Given the description of an element on the screen output the (x, y) to click on. 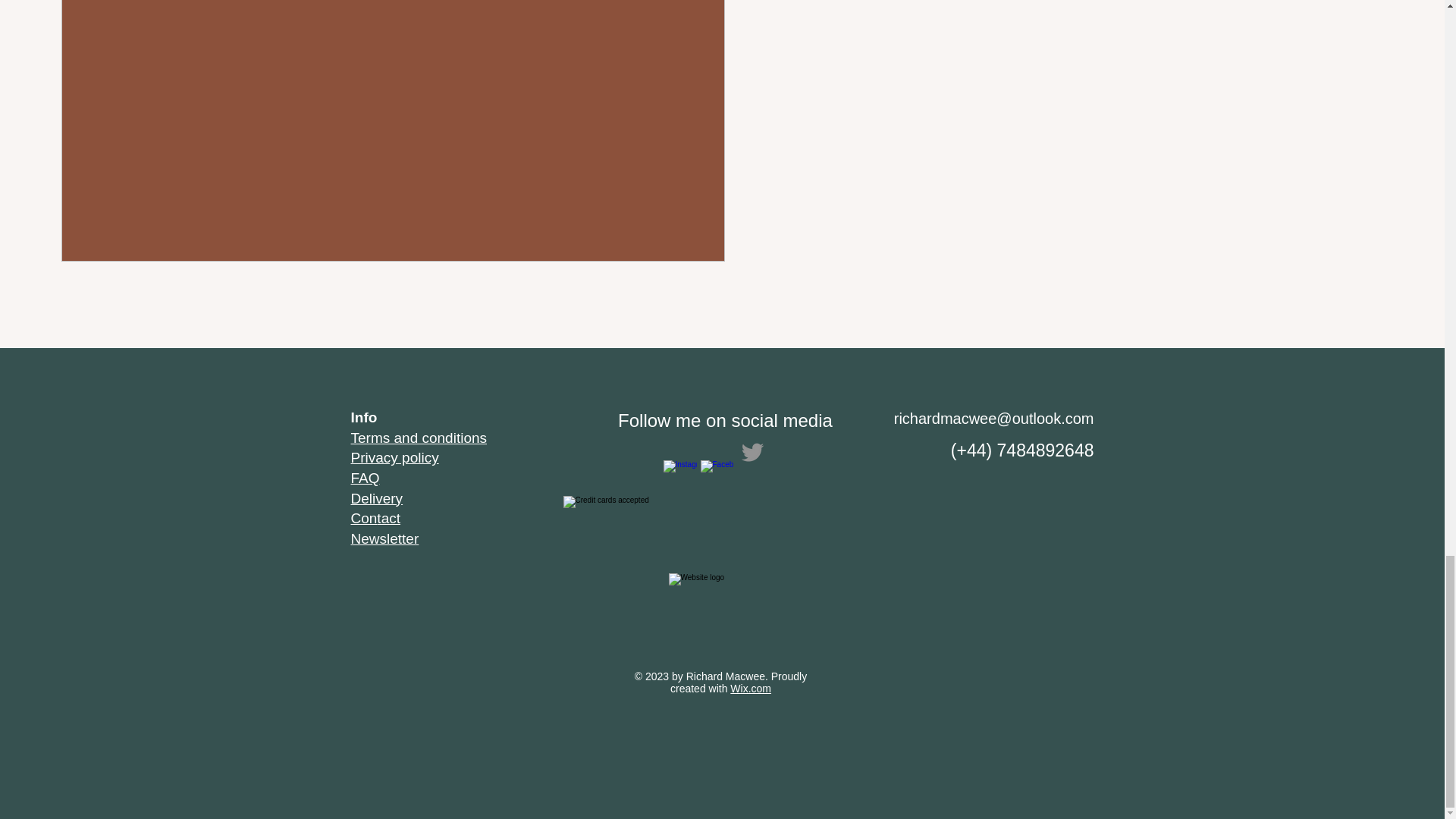
Terms and conditions (418, 437)
Newsletter (384, 538)
Con (363, 518)
Privacy policy (394, 457)
Delivery (376, 498)
tact (388, 518)
FAQ (364, 478)
Wix.com (750, 688)
final logo2.png (720, 625)
